Given the description of an element on the screen output the (x, y) to click on. 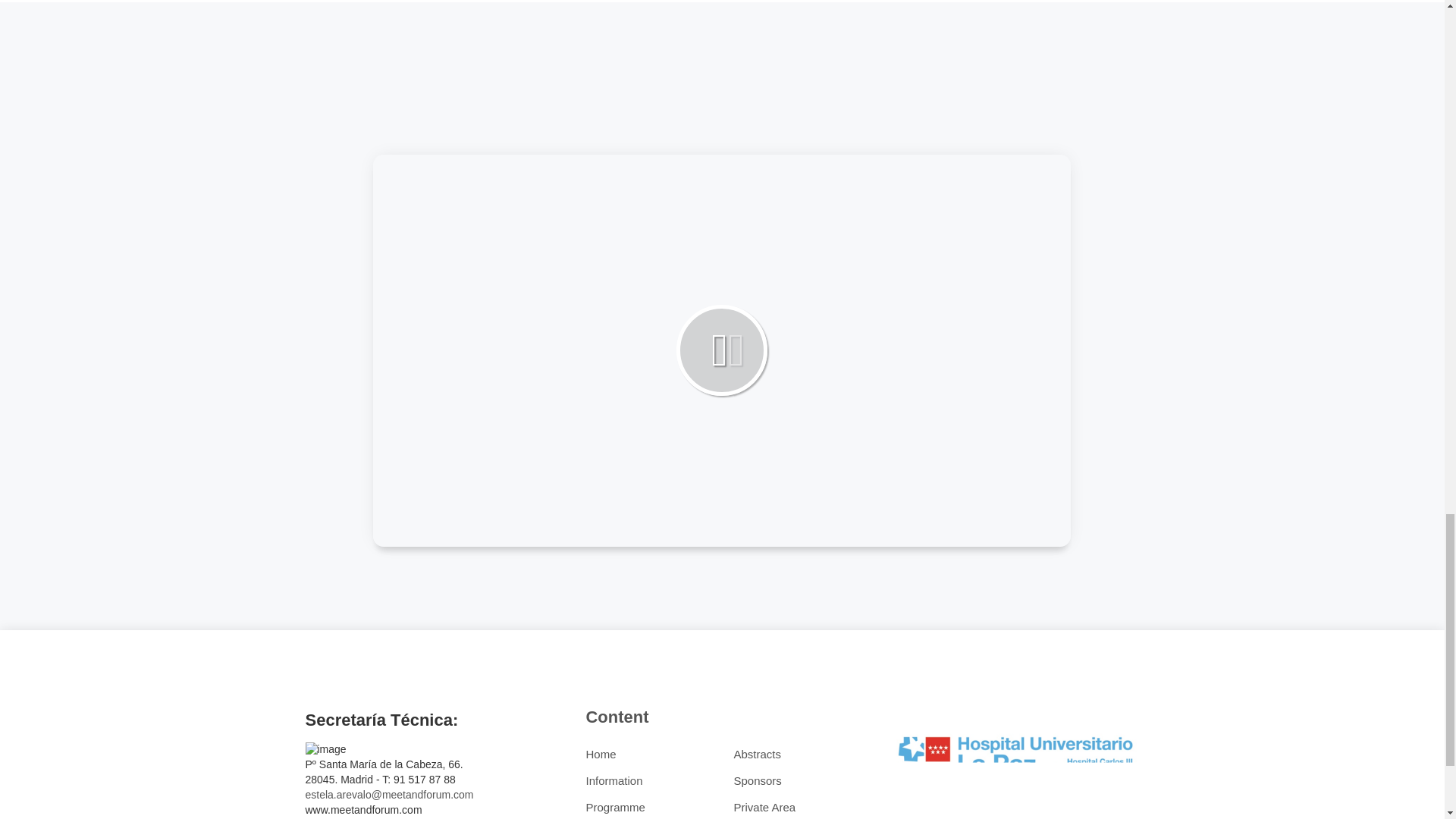
Information (613, 780)
Sponsors (756, 780)
Programme (615, 807)
Home (600, 753)
Abstracts (756, 753)
Private Area (763, 807)
